Given the description of an element on the screen output the (x, y) to click on. 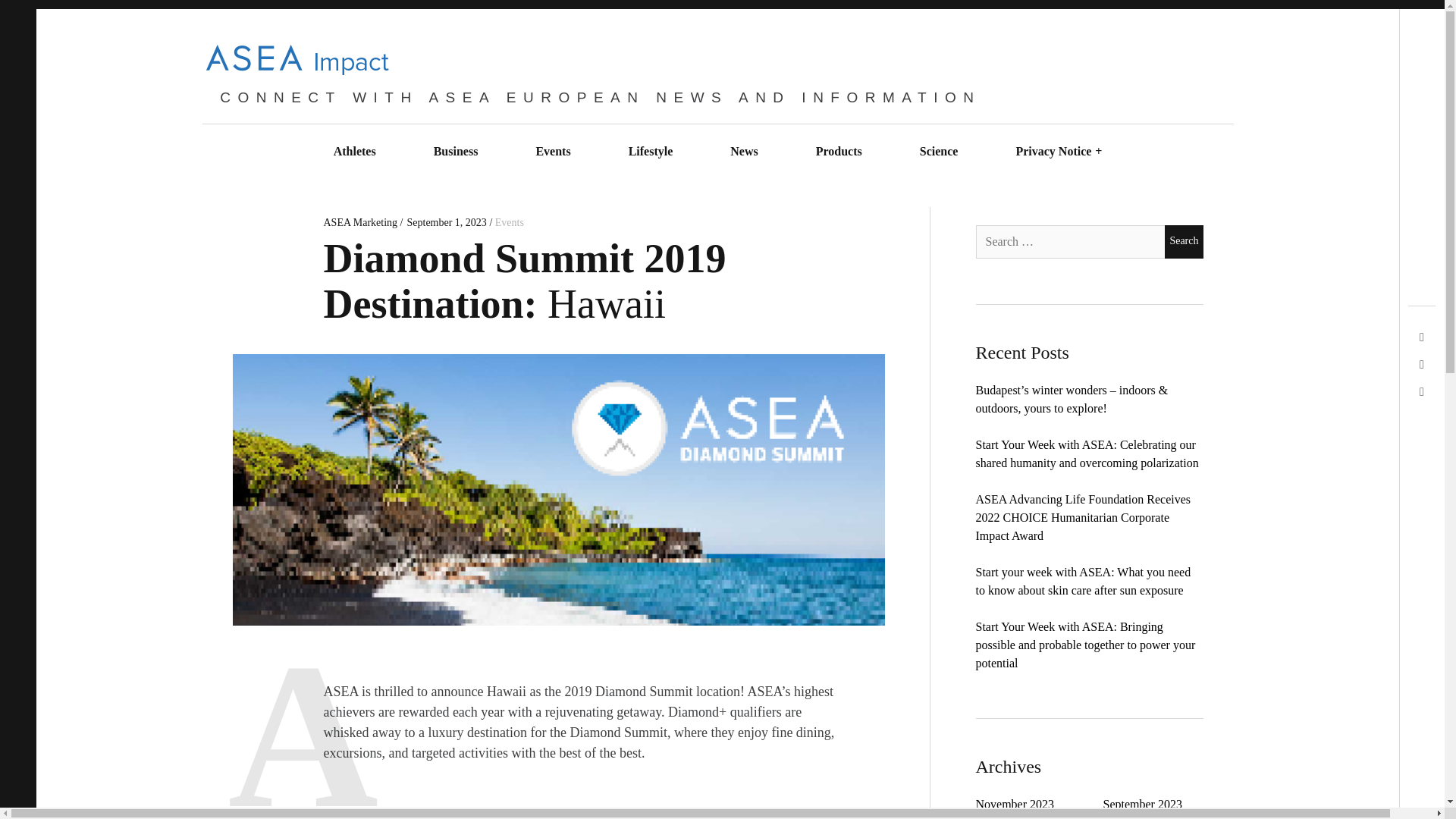
Lifestyle (650, 151)
Events (509, 222)
November 2023 (1014, 803)
Science (938, 151)
ASEA Marketing (360, 222)
Athletes (354, 151)
